Given the description of an element on the screen output the (x, y) to click on. 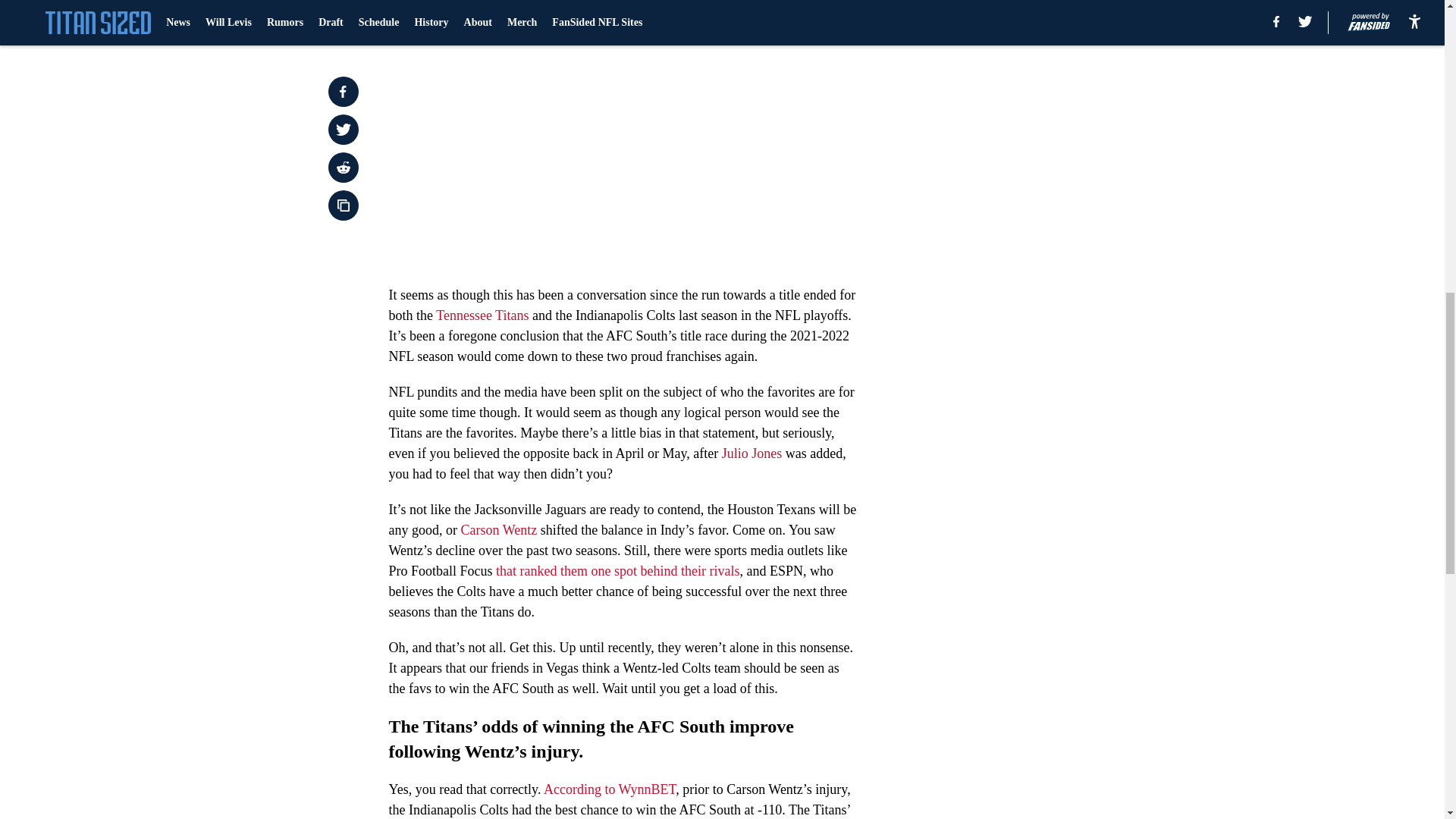
Julio Jones (752, 453)
Tennessee Titans (481, 314)
that ranked them one spot behind their rivals (616, 570)
Carson Wentz (498, 529)
According to WynnBET (609, 789)
